Given the description of an element on the screen output the (x, y) to click on. 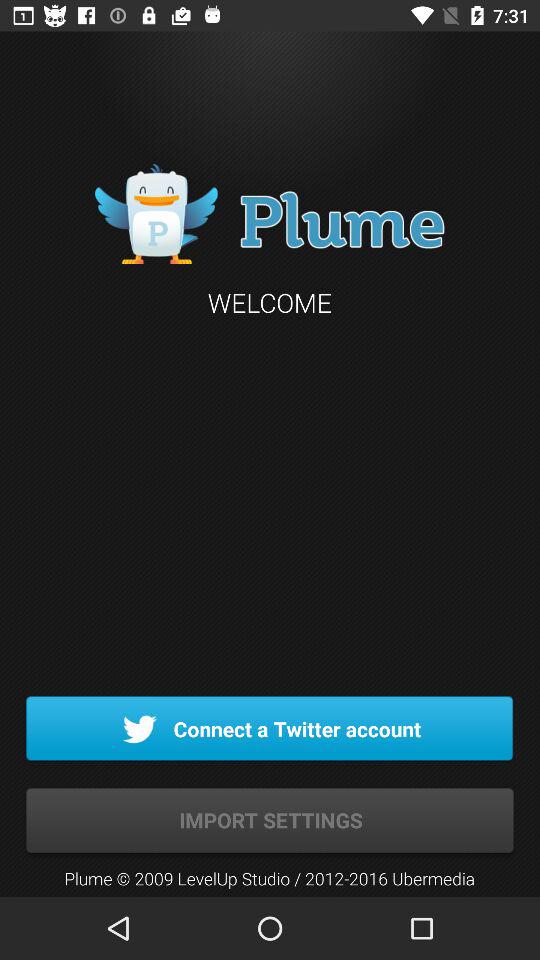
swipe to the import settings icon (269, 820)
